Given the description of an element on the screen output the (x, y) to click on. 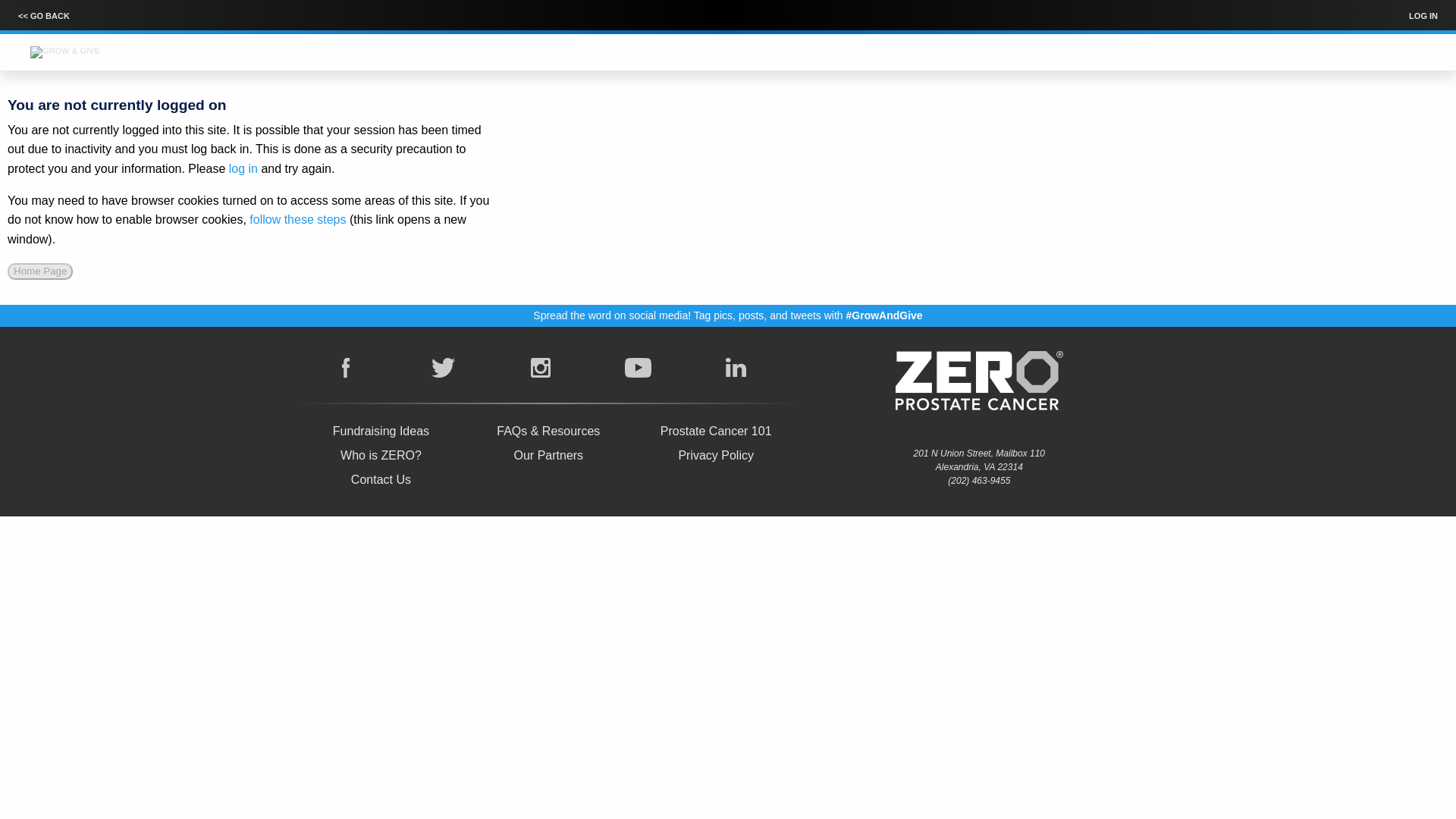
Prostate Cancer 101 (716, 431)
Instagram (540, 367)
LOG IN (1423, 16)
log in (242, 168)
Contact Us (380, 479)
Facebook (345, 367)
Home Page (39, 270)
follow these steps (297, 219)
YouTube (638, 367)
LinkedIn (735, 367)
Who is ZERO? (381, 454)
Home Page (39, 270)
Fundraising Ideas (381, 431)
Our Partners (548, 454)
Privacy Policy (716, 454)
